Given the description of an element on the screen output the (x, y) to click on. 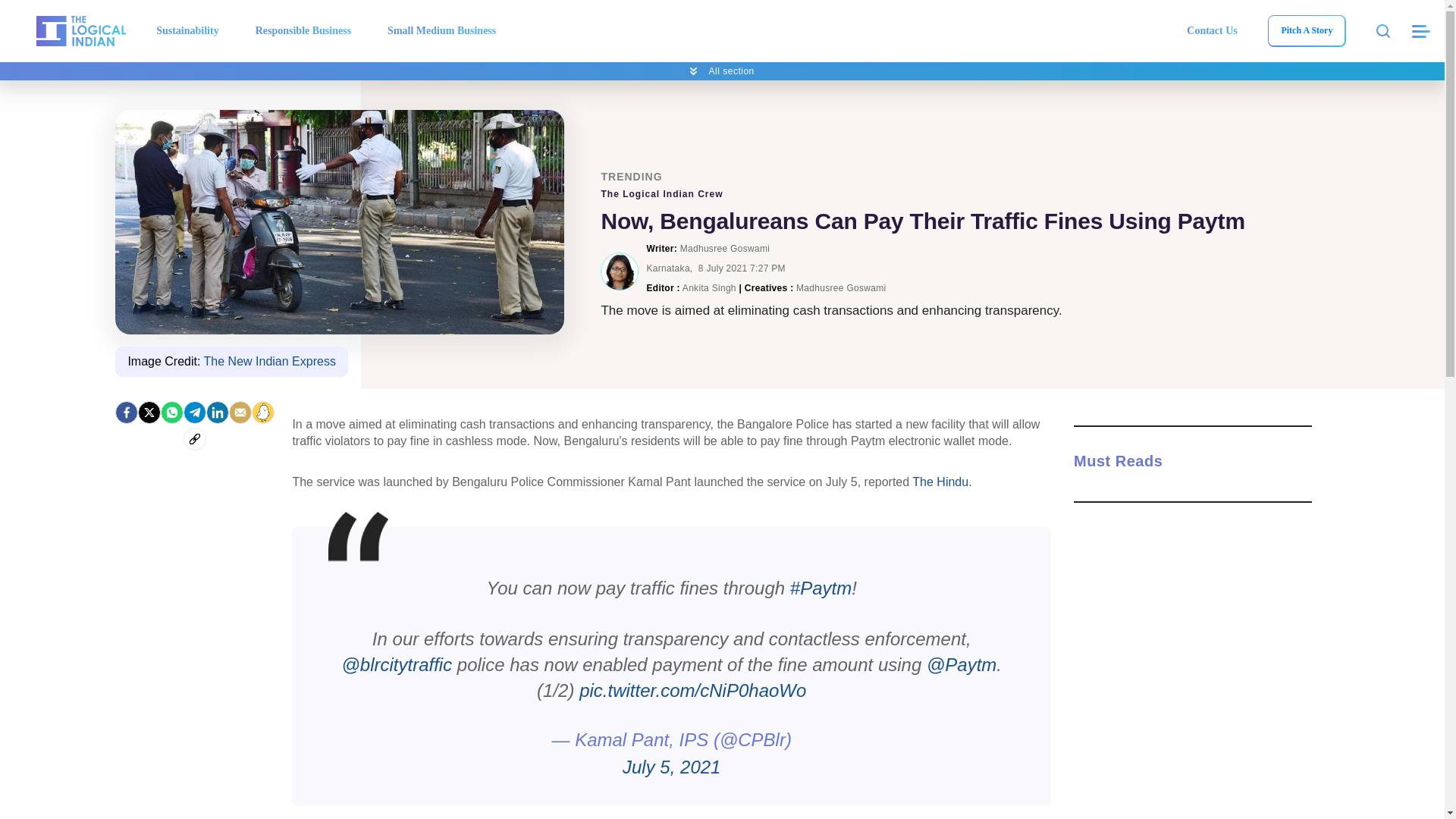
LinkedIn (217, 412)
Contact Us (1212, 30)
Responsible Business (303, 30)
Small Medium Business (441, 30)
Now, Bengalureans Can Pay Their Traffic Fines Using Paytm (339, 221)
Share by Email (239, 412)
Madhusree Goswami (619, 271)
Sustainability (186, 30)
Pitch A Story (1305, 30)
The Logical Indian (80, 30)
